Given the description of an element on the screen output the (x, y) to click on. 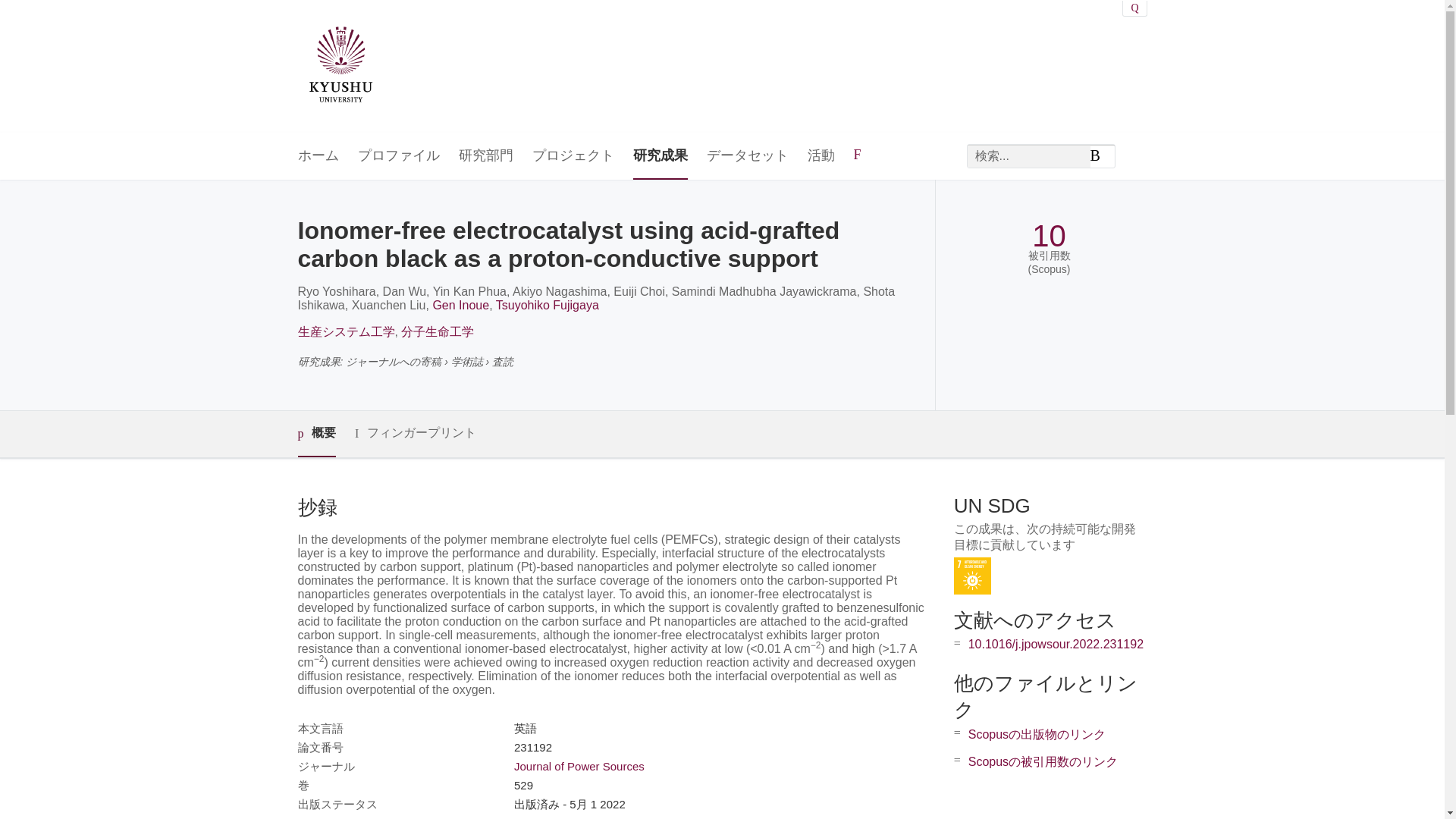
10 (1048, 235)
Gen Inoue (460, 305)
Journal of Power Sources (579, 766)
Tsuyohiko Fujigaya (547, 305)
